Given the description of an element on the screen output the (x, y) to click on. 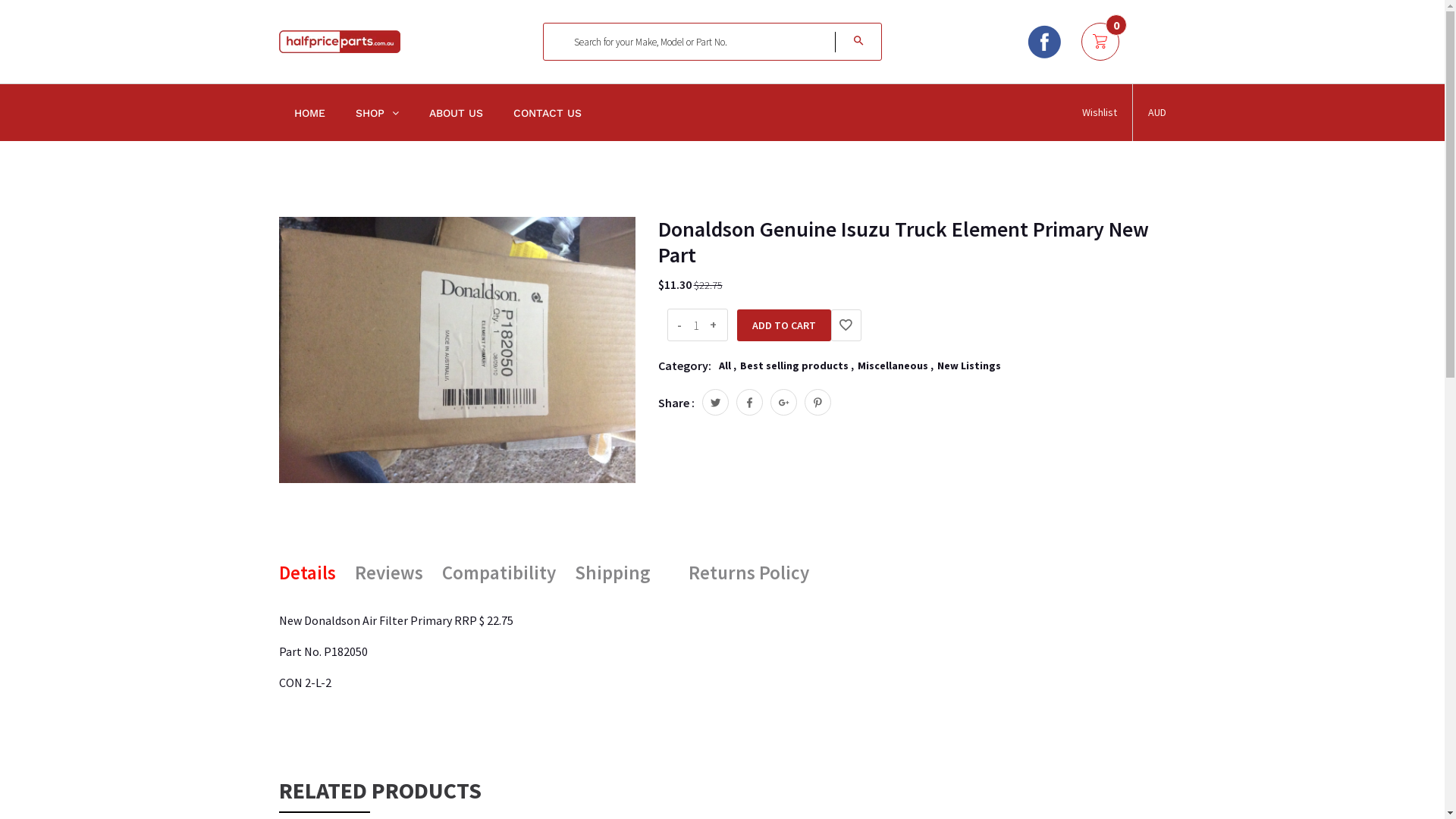
Share on Twitter Element type: hover (715, 402)
ADD TO CART Element type: text (784, 325)
Reviews Element type: text (388, 572)
0 Element type: text (1100, 41)
Share on Pinterest Element type: hover (816, 402)
AUD Element type: text (1157, 112)
Returns Policy Element type: text (748, 572)
Miscellaneous Element type: text (891, 365)
Wishlist Element type: text (1098, 112)
like us on facebook Element type: hover (1043, 41)
Details Element type: text (307, 572)
New Listings Element type: text (969, 365)
Wishlist Element type: hover (846, 325)
ABOUT US Element type: text (456, 112)
Share on Facebook Element type: hover (748, 402)
CONTACT US Element type: text (546, 112)
All Element type: text (724, 365)
SHOP Element type: text (376, 112)
HOME Element type: text (309, 112)
Compatibility Element type: text (498, 572)
Shipping Element type: text (612, 572)
Best selling products Element type: text (794, 365)
Share on Google+ Element type: hover (783, 402)
